Given the description of an element on the screen output the (x, y) to click on. 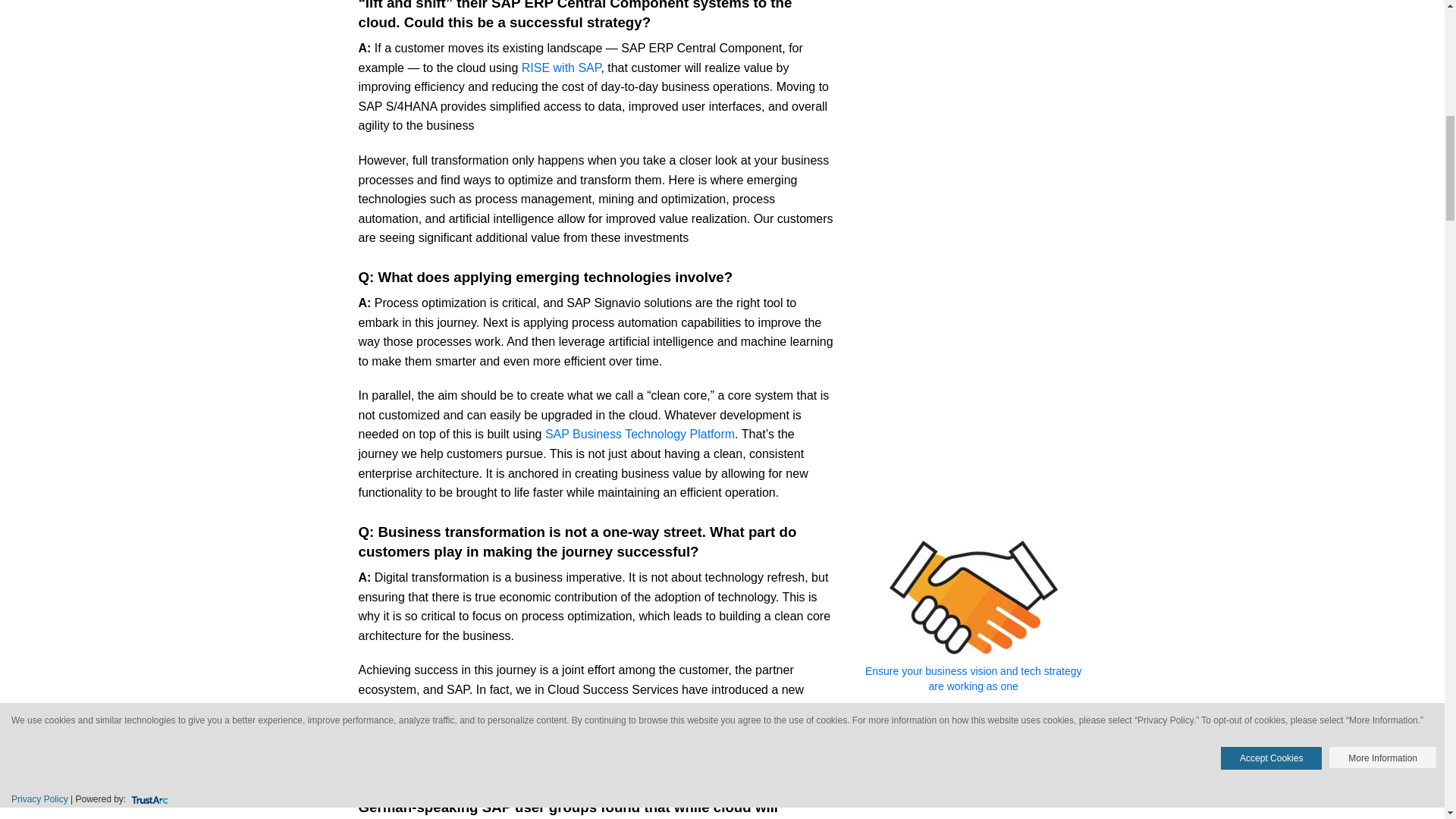
SAP Business Technology Platform (639, 433)
RISE with SAP (561, 67)
